Given the description of an element on the screen output the (x, y) to click on. 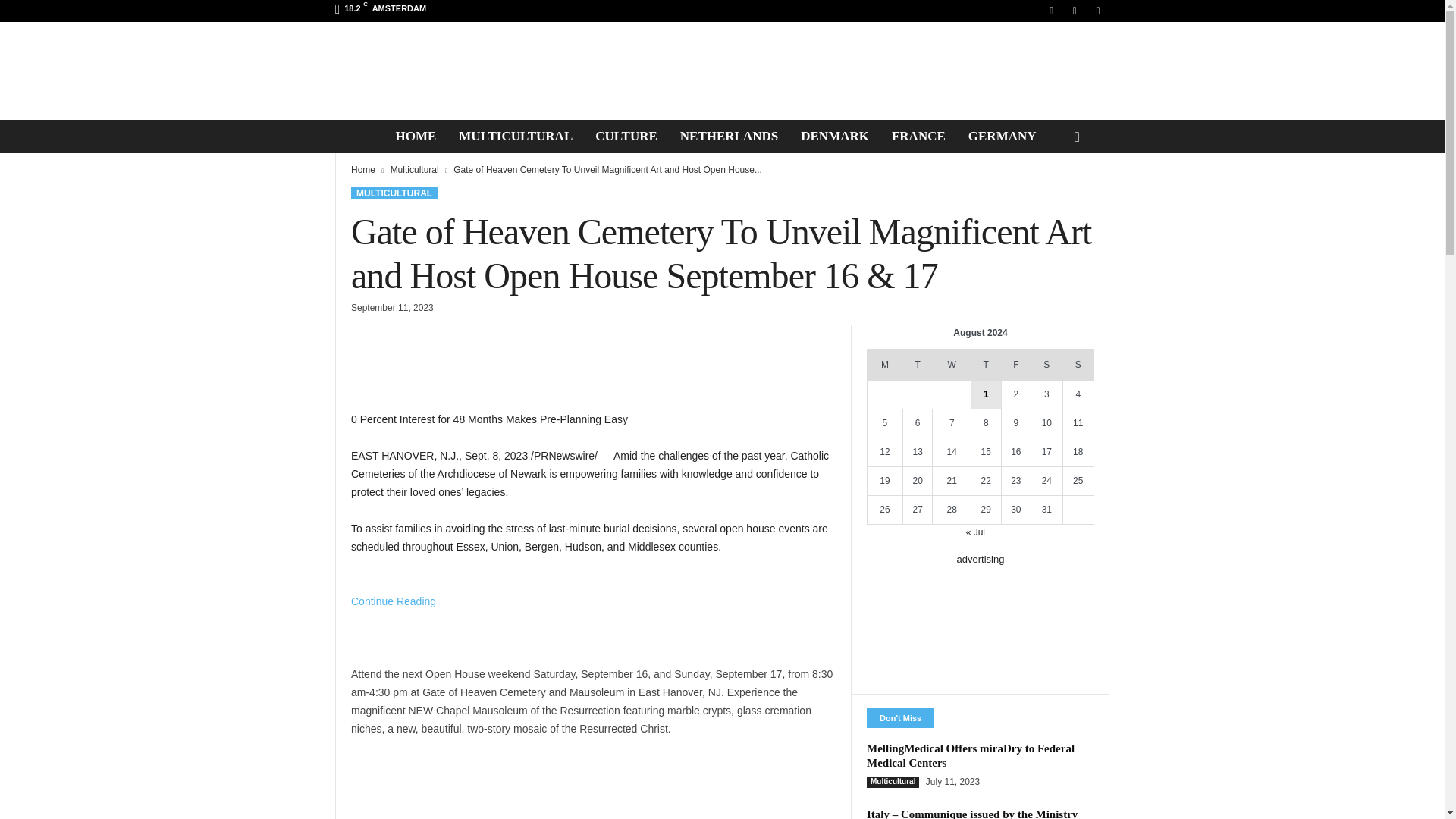
Amsterdam Aesthetics (721, 70)
Home (362, 169)
DENMARK (834, 136)
NETHERLANDS (728, 136)
Continue Reading (392, 619)
Continue Reading (392, 619)
MULTICULTURAL (514, 136)
HOME (415, 136)
CULTURE (625, 136)
View all posts in Multicultural (414, 169)
GERMANY (1002, 136)
FRANCE (918, 136)
MULTICULTURAL (394, 193)
Multicultural (414, 169)
